Given the description of an element on the screen output the (x, y) to click on. 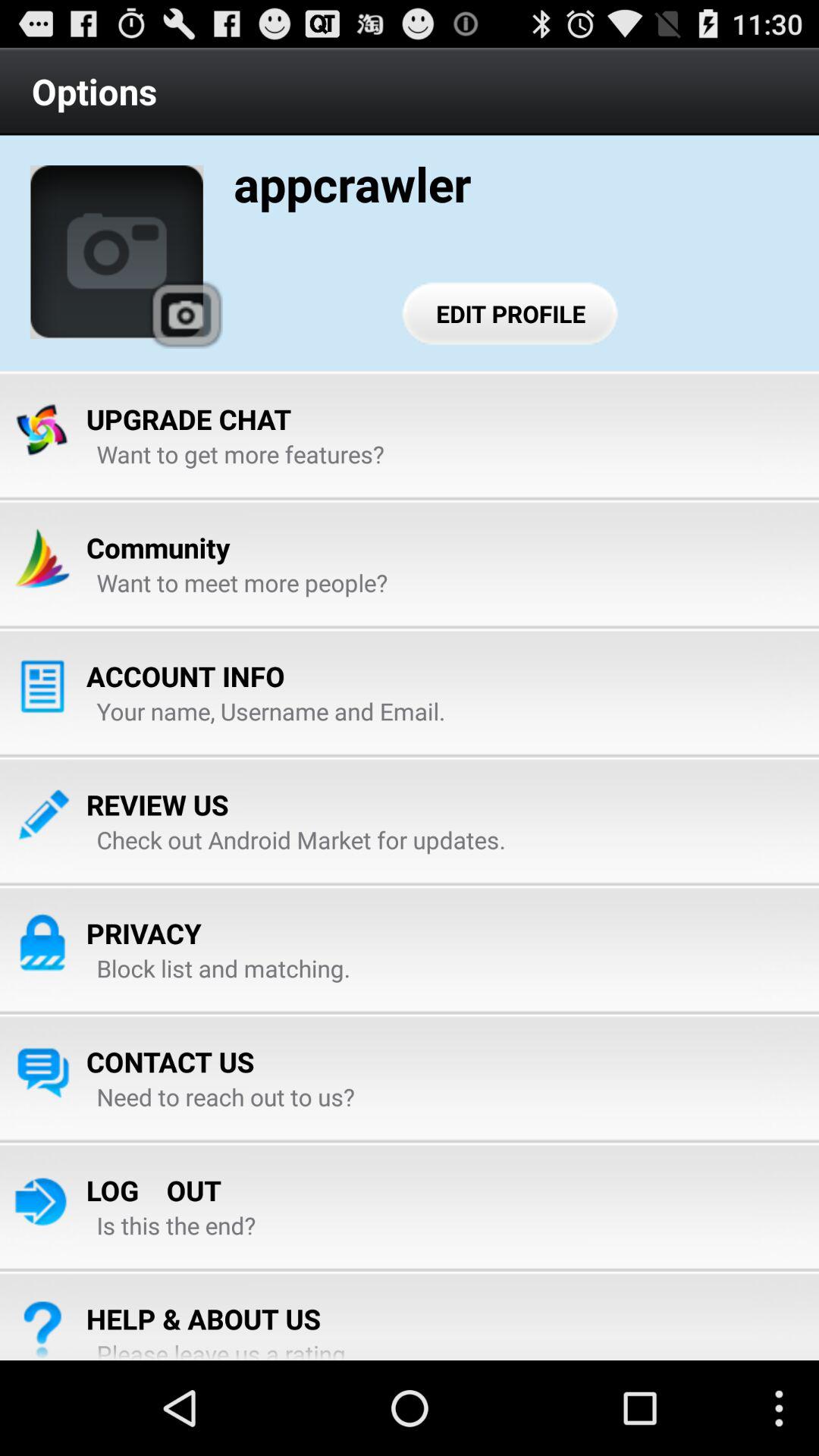
turn off item above the please leave us icon (203, 1318)
